Given the description of an element on the screen output the (x, y) to click on. 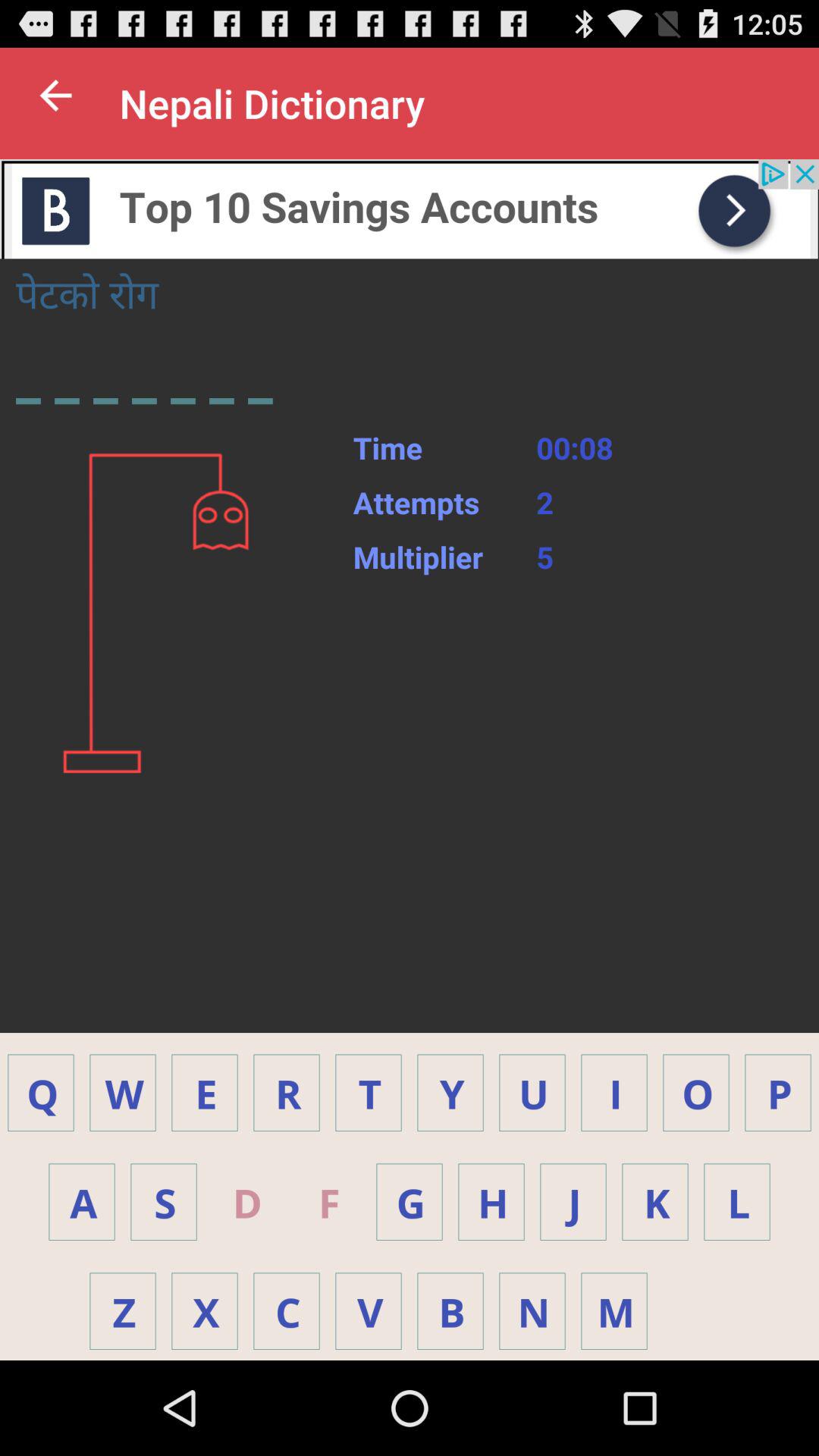
advertisement (409, 208)
